Given the description of an element on the screen output the (x, y) to click on. 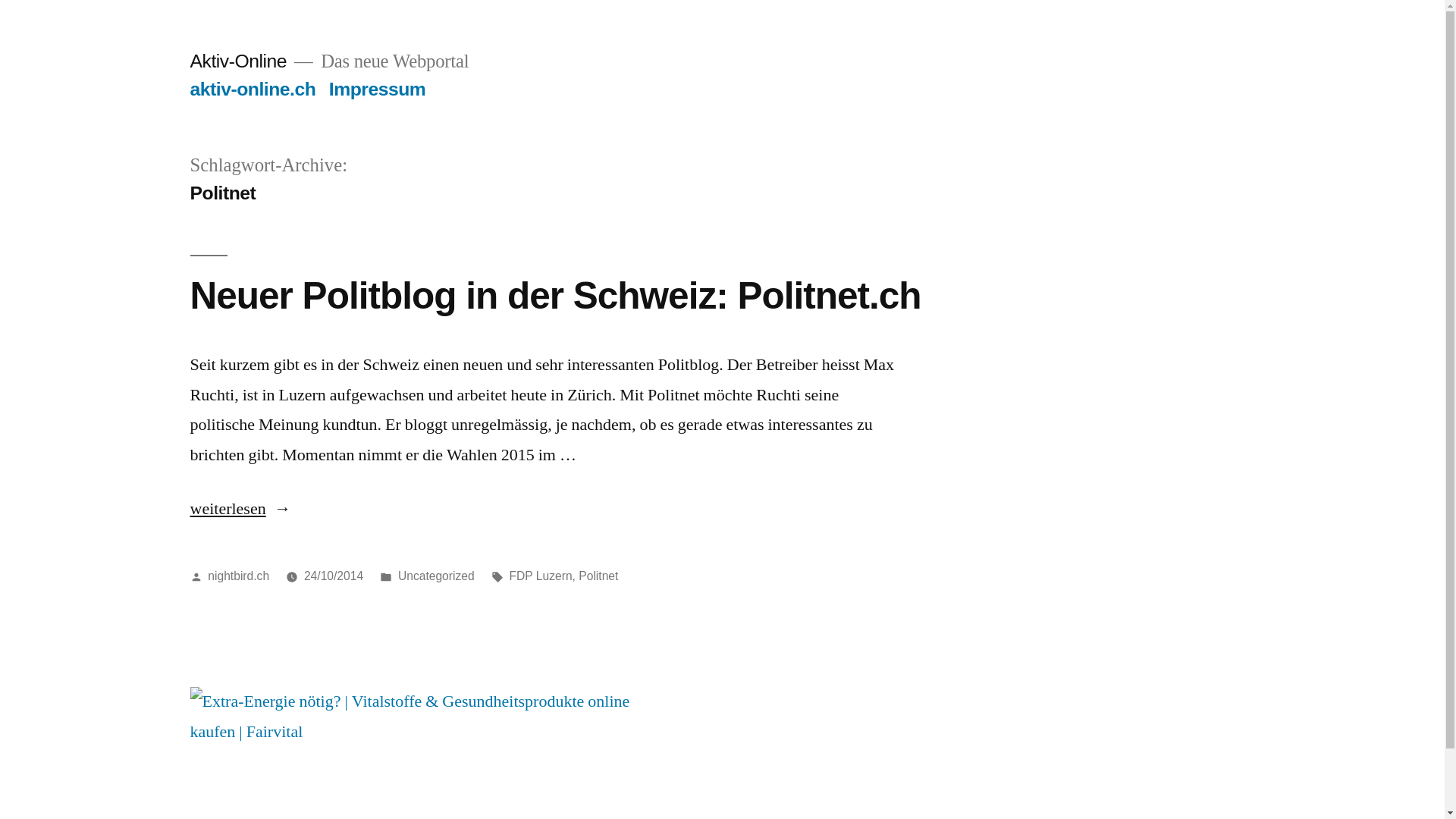
aktiv-online.ch Element type: text (252, 88)
Uncategorized Element type: text (436, 575)
Aktiv-Online Element type: text (237, 60)
FDP Luzern Element type: text (540, 575)
24/10/2014 Element type: text (333, 575)
Impressum Element type: text (377, 88)
nightbird.ch Element type: text (238, 575)
Politnet Element type: text (598, 575)
Neuer Politblog in der Schweiz: Politnet.ch Element type: text (554, 295)
